Given the description of an element on the screen output the (x, y) to click on. 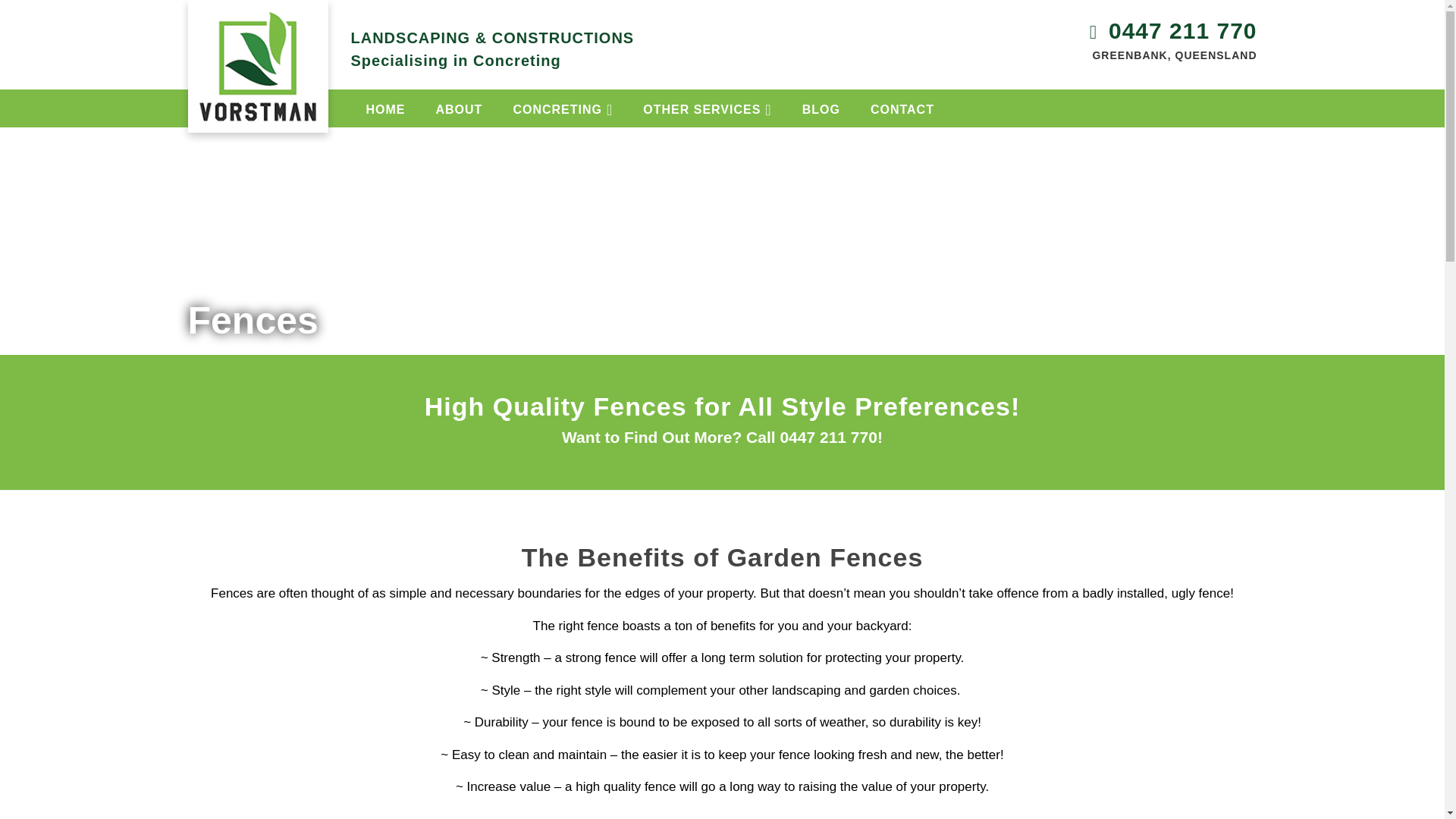
ABOUT (458, 108)
0447 211 770 (827, 436)
CONCRETING (562, 108)
HOME (385, 108)
CONTACT (902, 108)
OTHER SERVICES (706, 108)
vc logo (258, 44)
BLOG (821, 108)
vc logo (258, 66)
0447 211 770 (1182, 30)
